Given the description of an element on the screen output the (x, y) to click on. 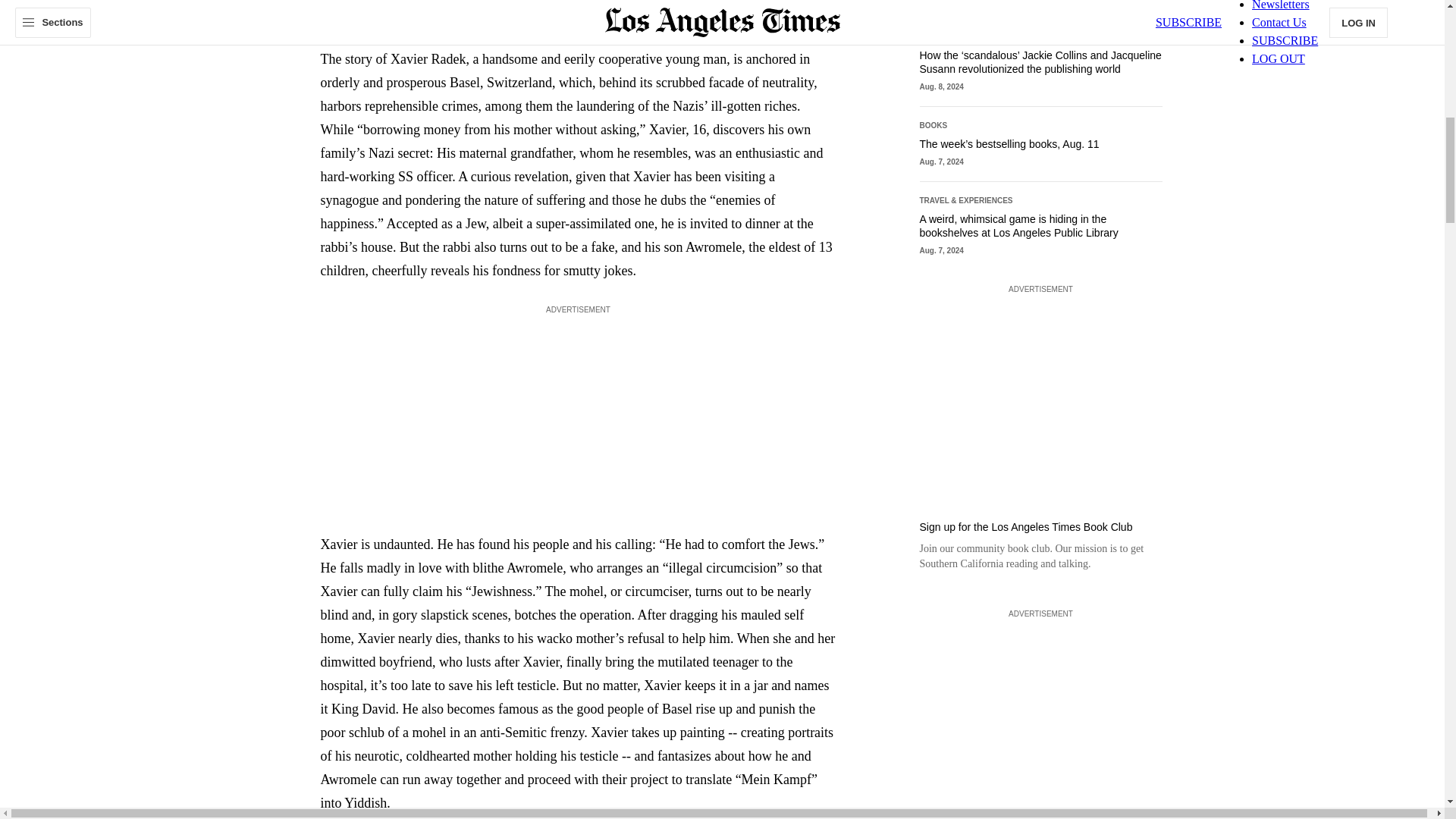
3rd party ad content (1040, 717)
3rd party ad content (1040, 392)
